Given the description of an element on the screen output the (x, y) to click on. 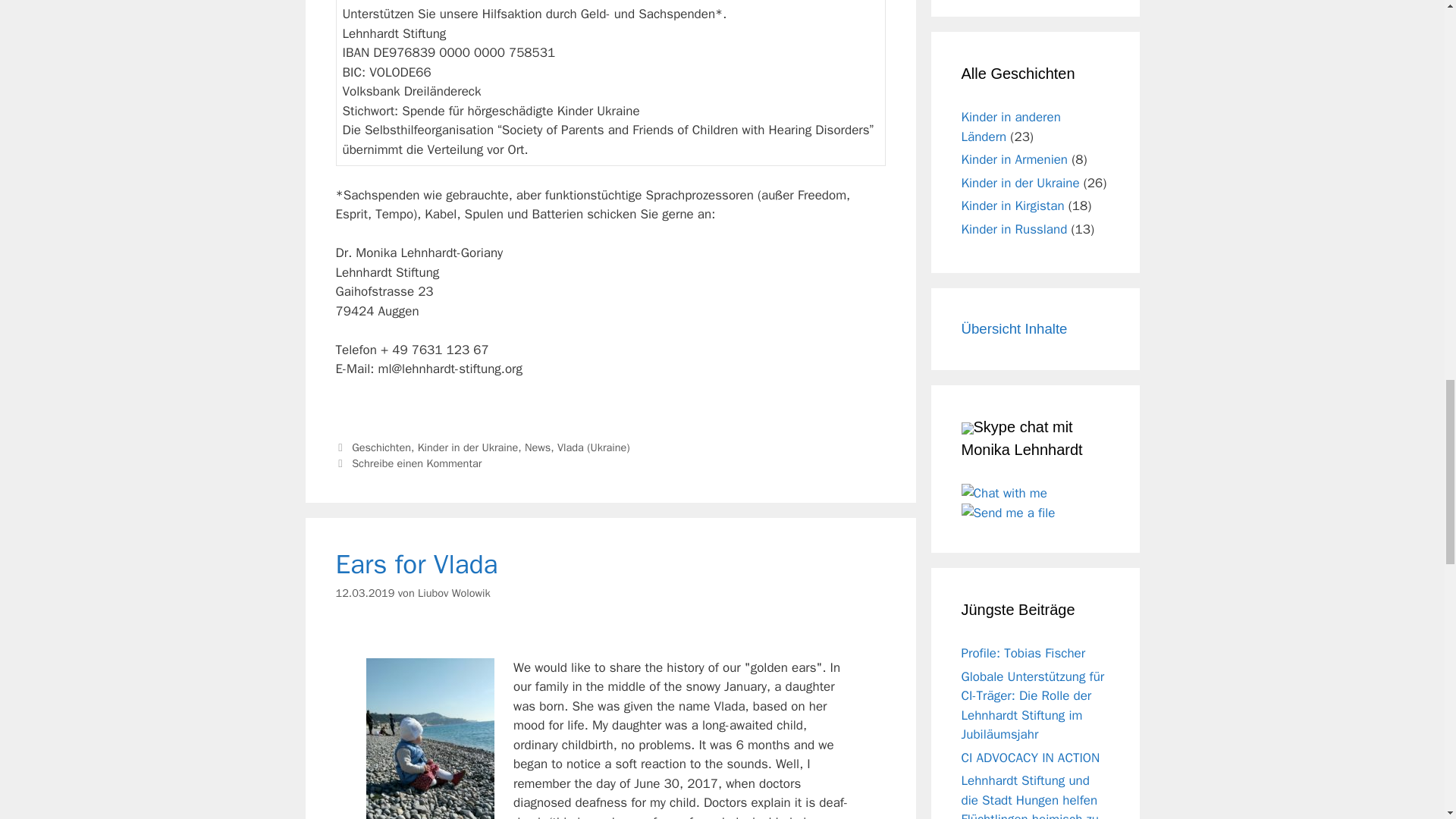
Kinder in der Ukraine (467, 447)
News (537, 447)
Geschichten (381, 447)
Liubov Wolowik (453, 592)
Schreibe einen Kommentar (416, 463)
Ears for Vlada (415, 563)
